Given the description of an element on the screen output the (x, y) to click on. 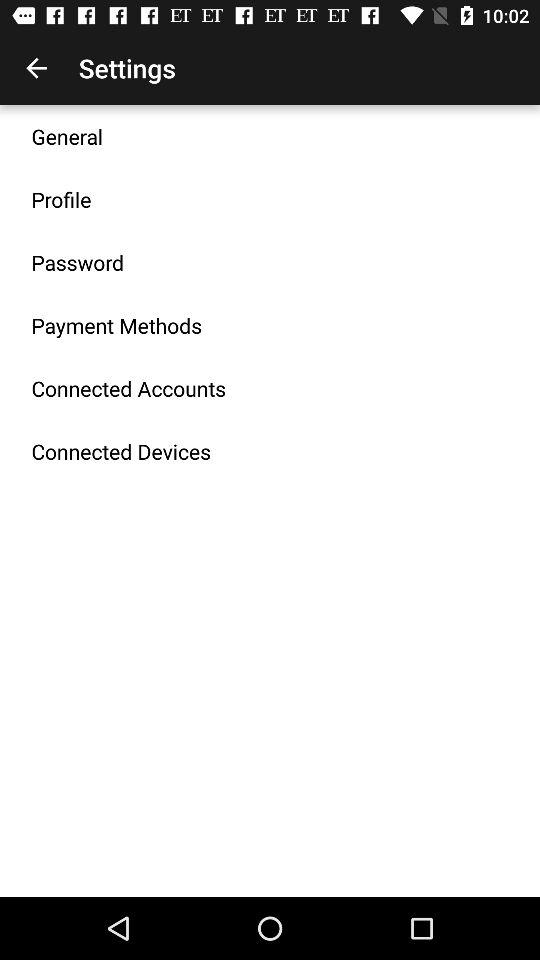
open the general icon (67, 136)
